Given the description of an element on the screen output the (x, y) to click on. 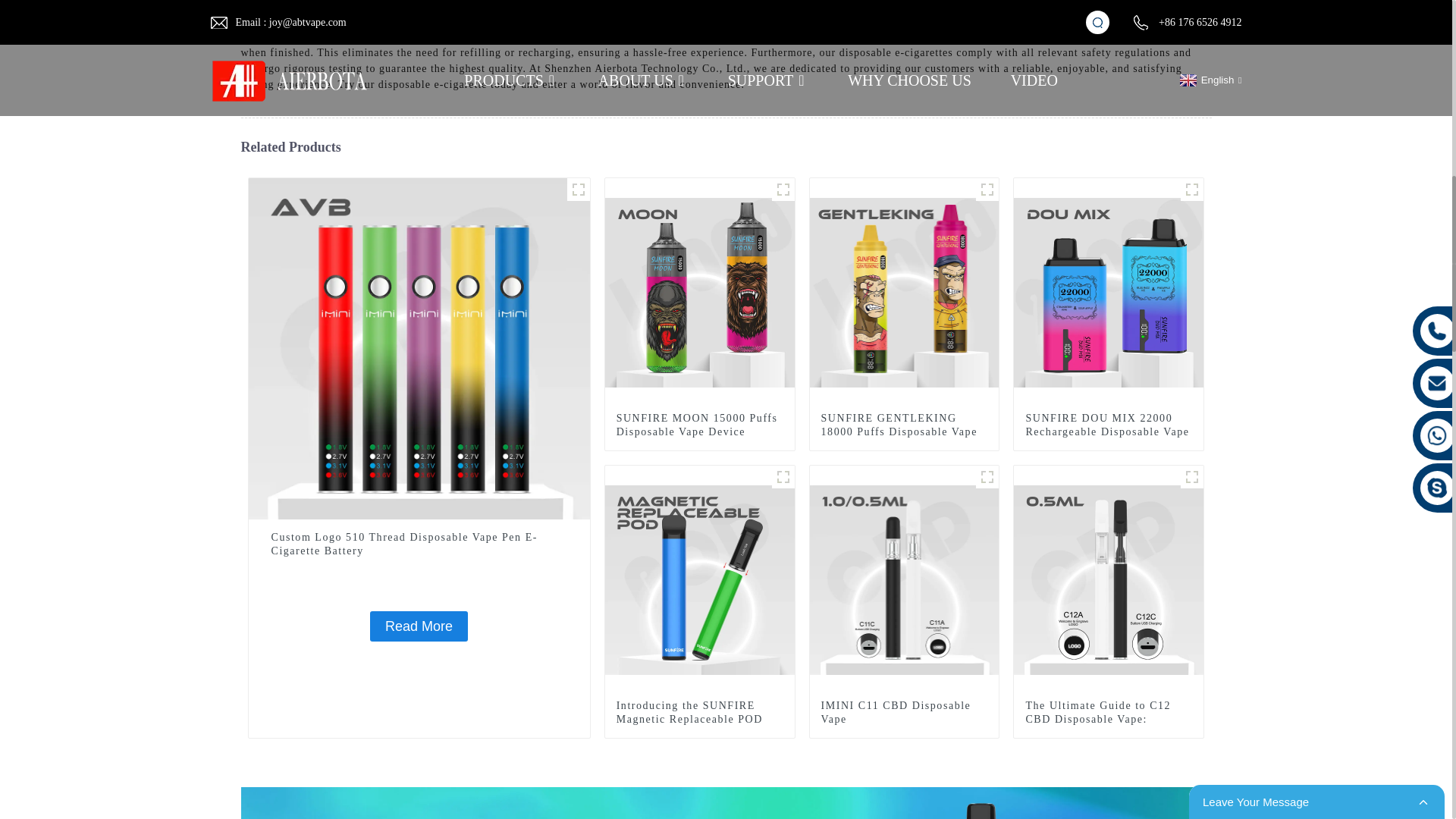
SUNFIRE MOON 15000 Puffs Disposable Vape Device (699, 424)
SUNFIRE DOU MIX 22000 Rechargeable Disposable Vape (1108, 291)
Read More (418, 625)
SUNFIRE GENTLEKING 18000 Puffs Disposable Vape Device (903, 291)
SUNFIRE DOU MIX 22000 Rechargeable Disposable Vape (1108, 424)
